Given the description of an element on the screen output the (x, y) to click on. 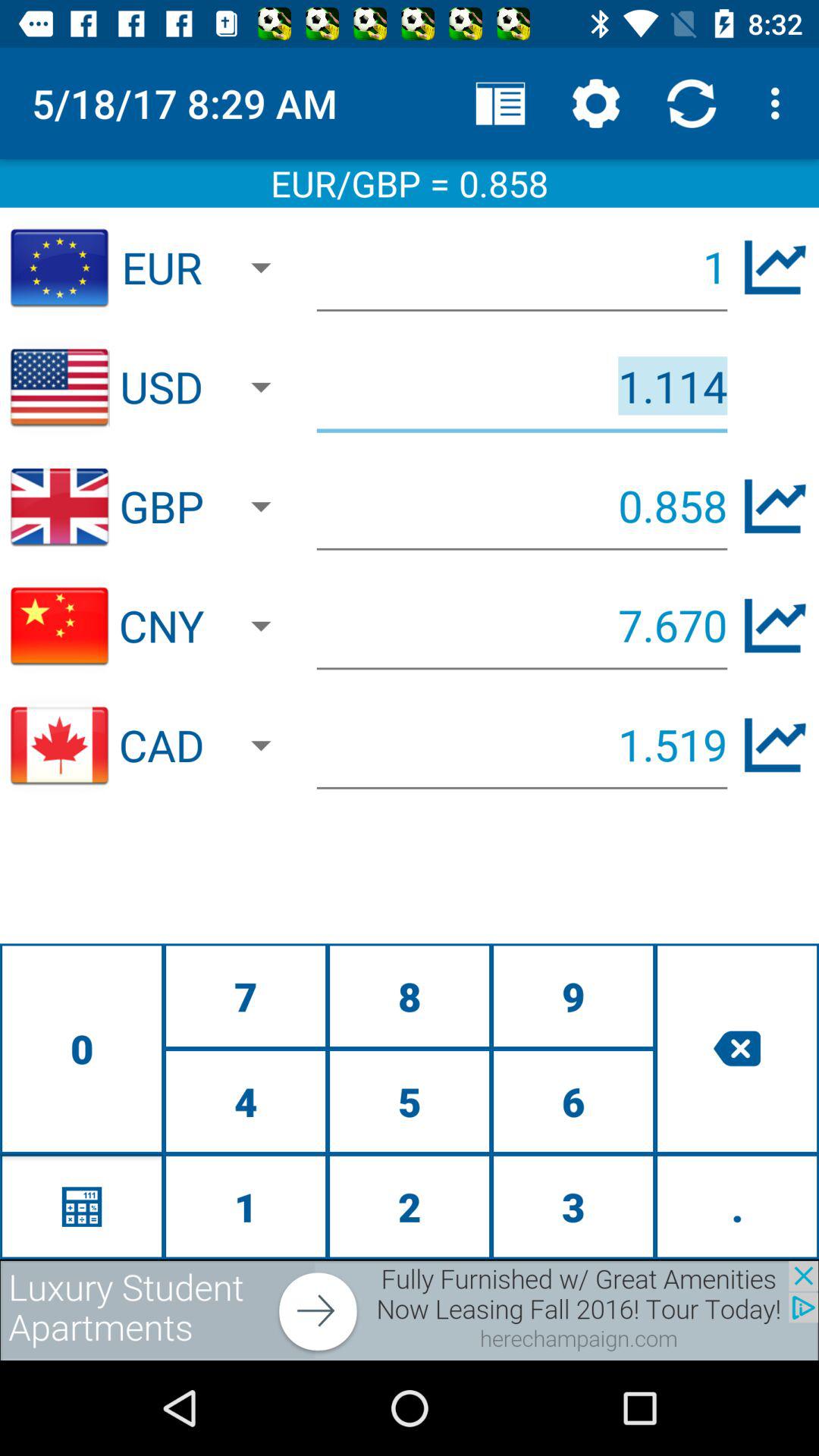
calculate (81, 1206)
